Given the description of an element on the screen output the (x, y) to click on. 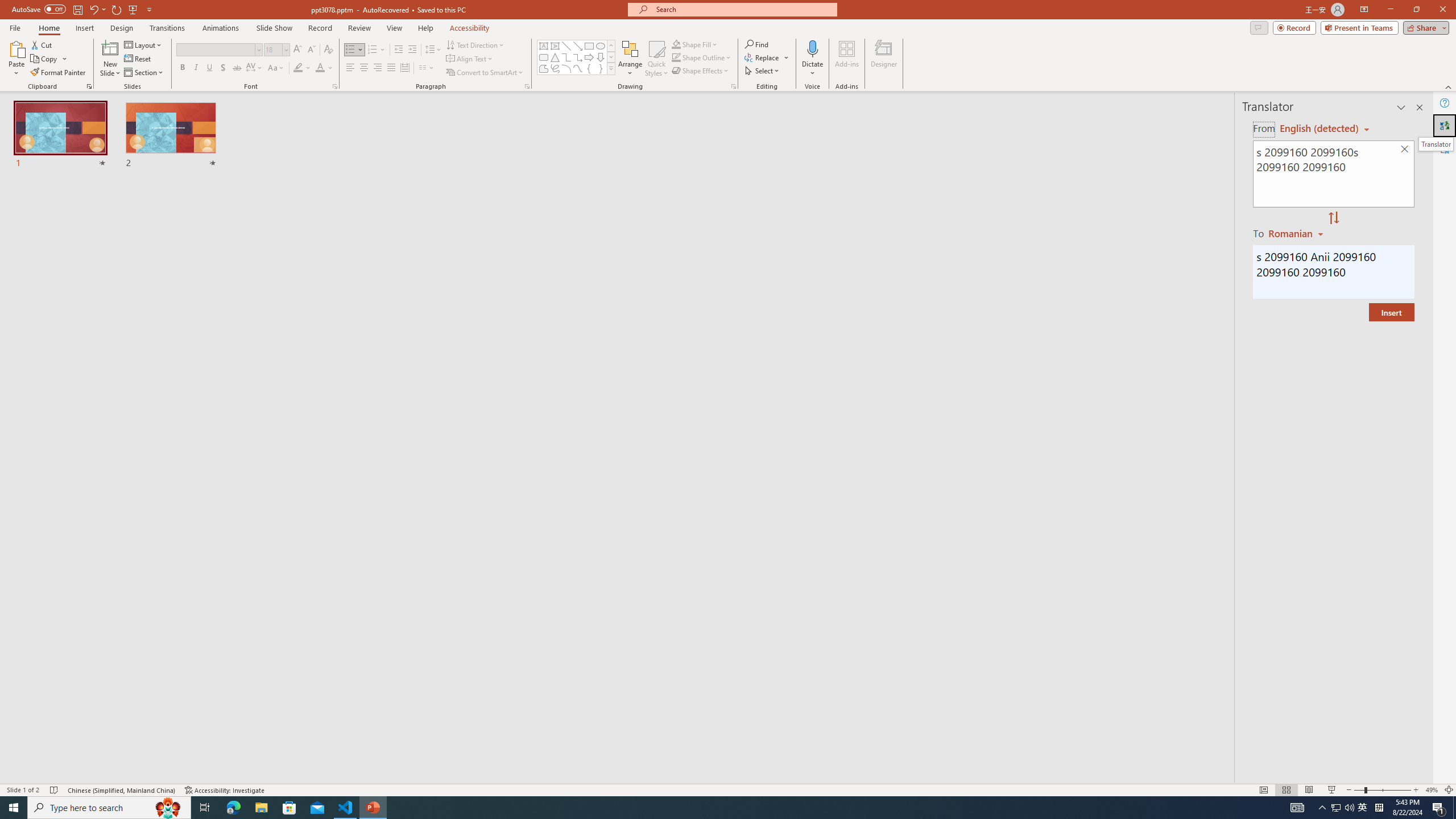
Romanian (1296, 232)
